Given the description of an element on the screen output the (x, y) to click on. 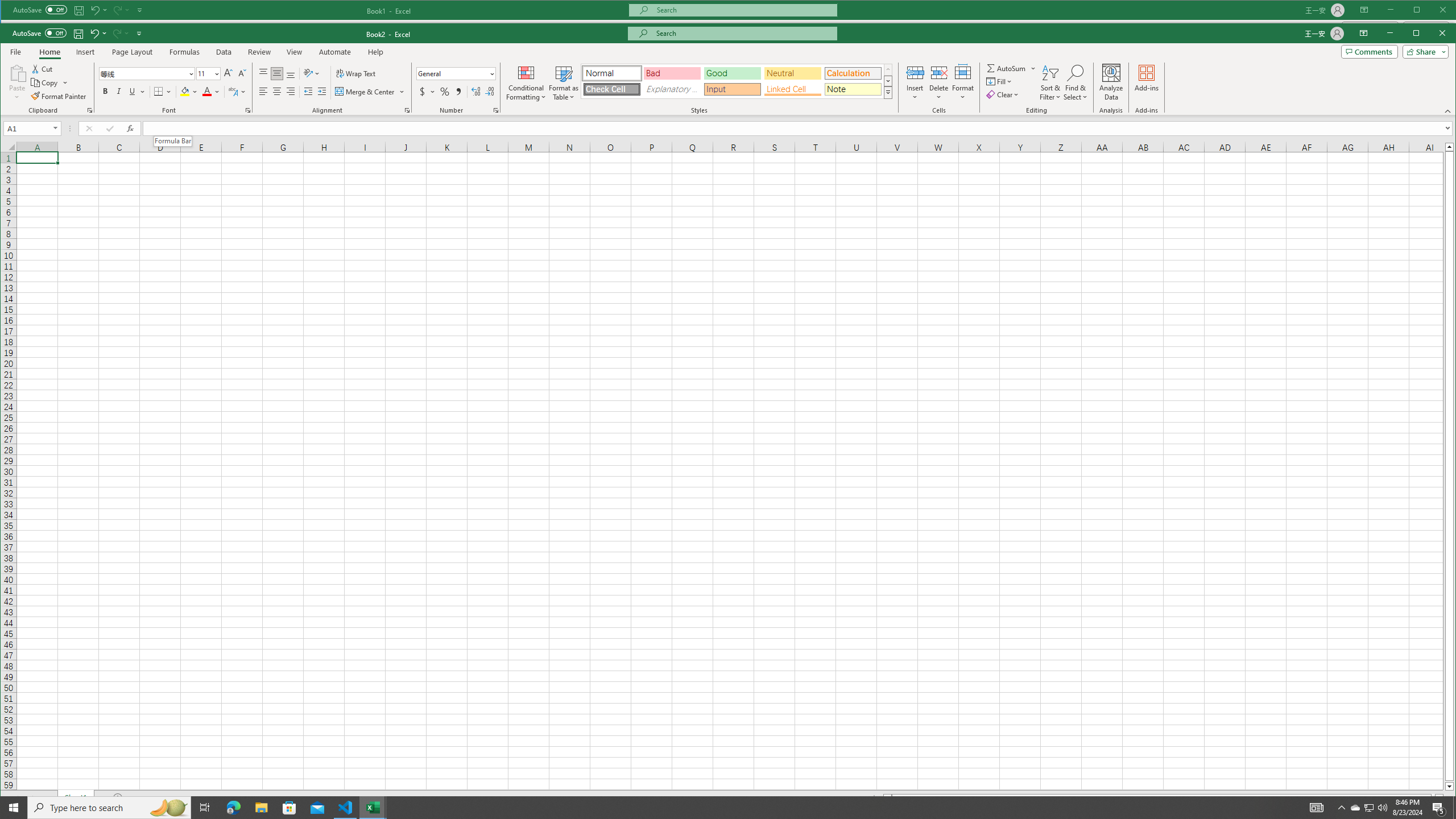
Calculation (852, 73)
Help (376, 51)
Delete Cells... (938, 72)
Sheet1 (75, 797)
Fill Color RGB(255, 255, 0) (184, 91)
AutoSum (1011, 68)
Formula Bar (799, 128)
Column right (1439, 798)
Merge & Center (365, 91)
Format Cell Number (496, 109)
Center (276, 91)
Sum (1006, 68)
Font (147, 73)
Column left (886, 798)
Accessibility Checker Accessibility: Good to go (76, 812)
